Given the description of an element on the screen output the (x, y) to click on. 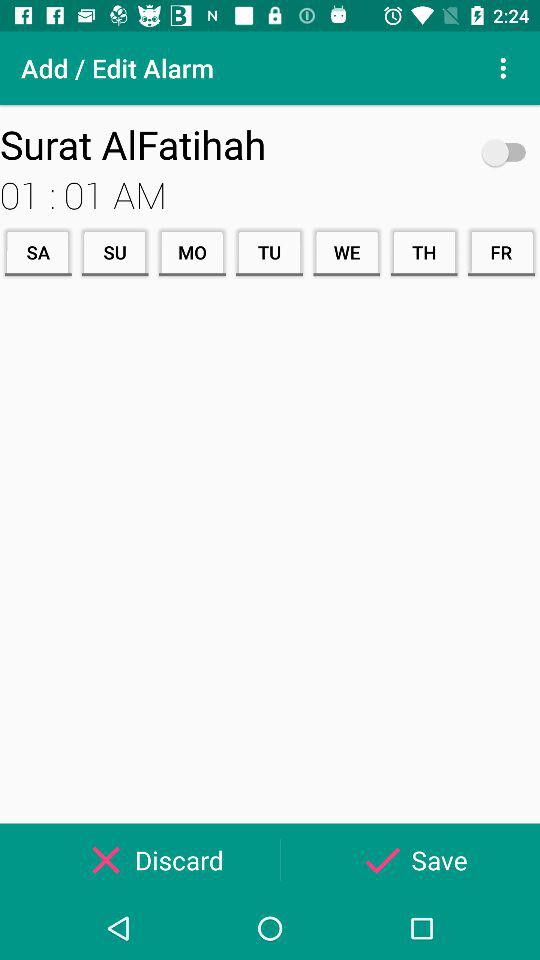
swipe to mo item (191, 251)
